Given the description of an element on the screen output the (x, y) to click on. 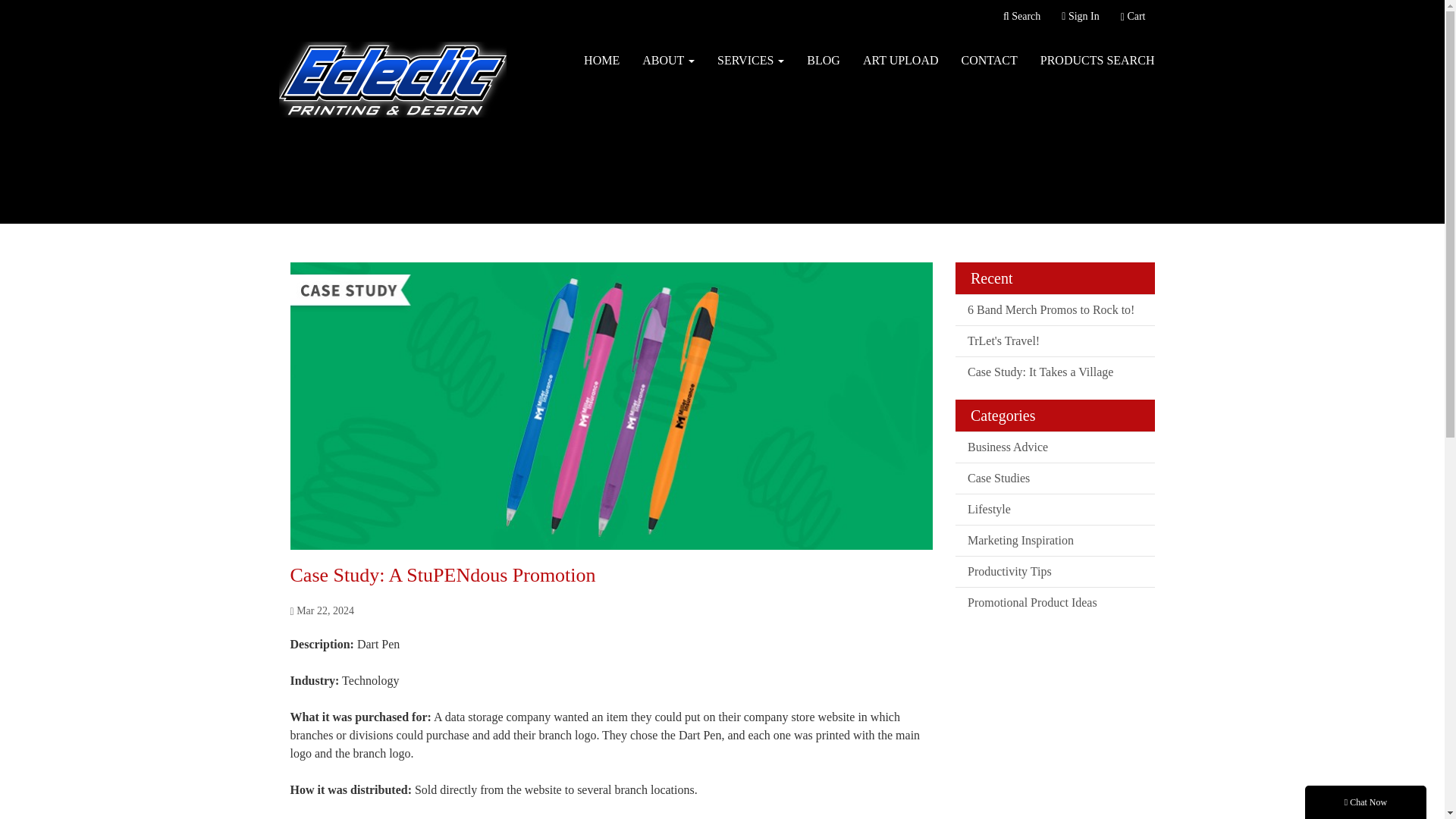
BLOG (822, 60)
6 Band Merch Promos to Rock to! (1054, 309)
ART UPLOAD (900, 60)
TrLet's Travel! (1054, 340)
Search (1021, 16)
HOME (601, 60)
Cart (1133, 16)
Chat Now (1365, 802)
ABOUT (668, 60)
Sign In (1080, 16)
CONTACT (989, 60)
SERVICES (750, 60)
PRODUCTS SEARCH (1097, 60)
